Given the description of an element on the screen output the (x, y) to click on. 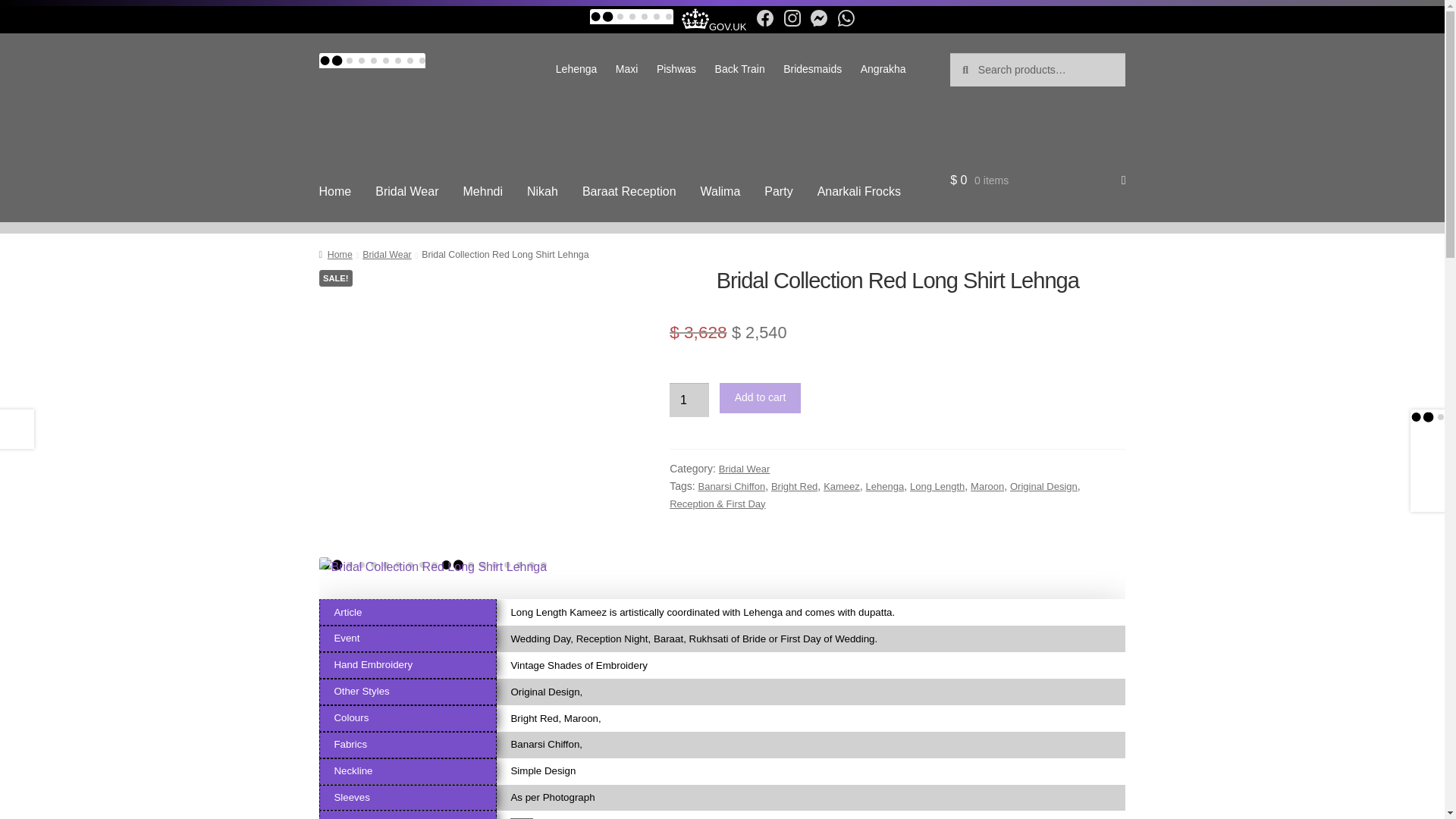
Bright Red (793, 486)
Lehenga (885, 486)
Mehndi (481, 191)
1 (689, 400)
Maxi (627, 69)
Lehenga (577, 69)
Bridal Wear (405, 191)
Banarsi Chiffon (731, 486)
GOV.UK (711, 26)
Pakistani Back Train Bridal Dresses 2024 (739, 69)
Pishwas (676, 69)
Baraat Reception Dresses 2024 (629, 191)
Angrakha (882, 69)
